Given the description of an element on the screen output the (x, y) to click on. 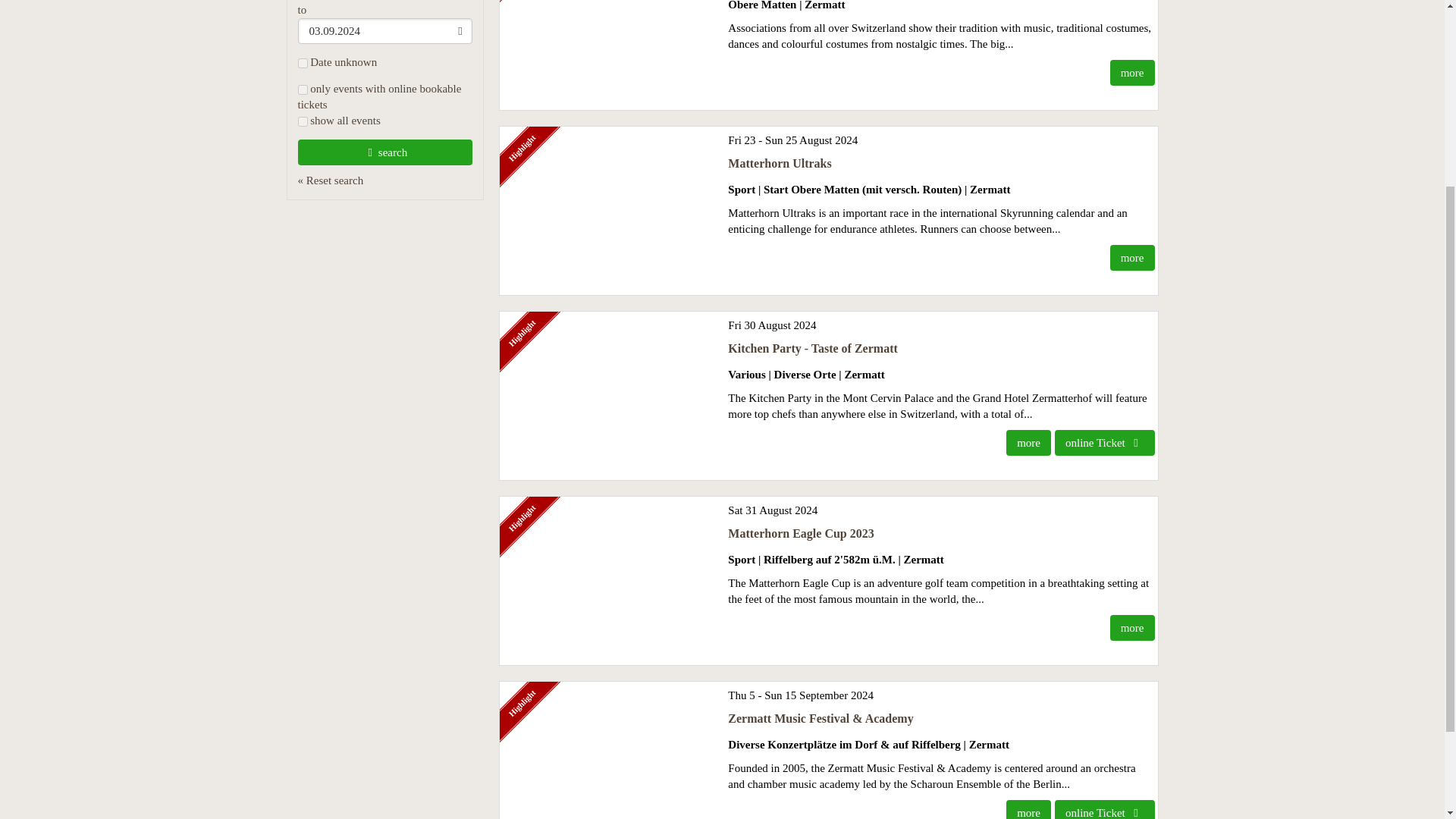
1 (302, 62)
Kitchen Party - Taste of Zermatt (813, 348)
Matterhorn Ultraks (779, 163)
more (1131, 257)
1 (302, 121)
Matterhorn Eagle Cup 2023 (800, 533)
03.09.2024 (384, 31)
more (1131, 72)
more (1131, 627)
1 (302, 62)
1 (302, 90)
search (384, 152)
more (1028, 442)
online Ticket (1104, 442)
1 (302, 90)
